Given the description of an element on the screen output the (x, y) to click on. 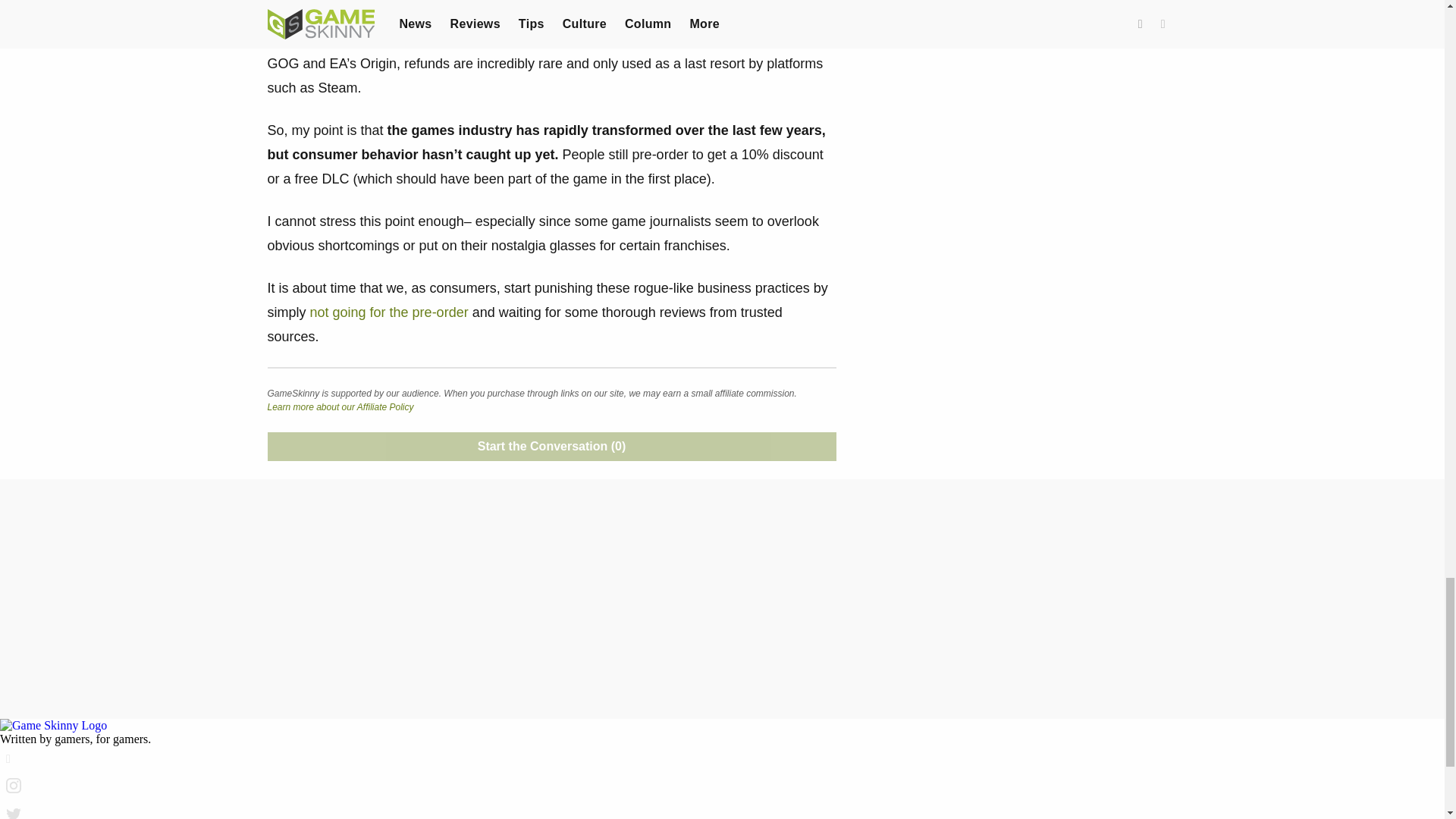
Digital Preorders are a Ridiculous Scam (389, 312)
